Given the description of an element on the screen output the (x, y) to click on. 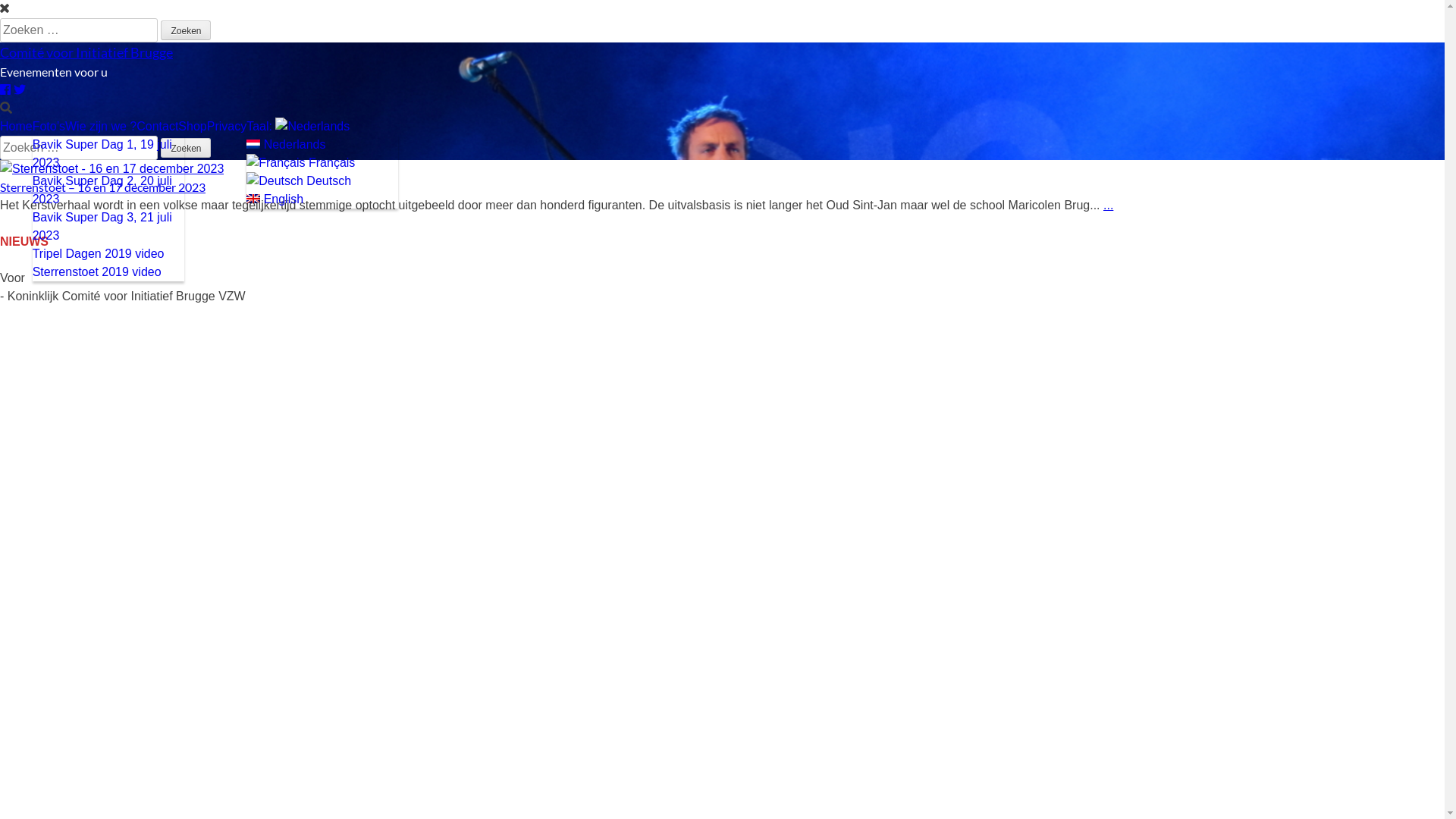
 Deutsch Element type: text (322, 181)
 English Element type: text (322, 199)
Wie zijn we ? Element type: text (100, 126)
Sterrenstoet 2019 video Element type: text (108, 272)
Bavik Super Dag 1, 19 juli 2023 Element type: text (108, 153)
Tripel Dagen 2019 video Element type: text (108, 253)
Zoeken Element type: text (185, 147)
Bavik Super Dag 2, 20 juli 2023 Element type: text (108, 190)
Privacy Element type: text (226, 126)
Shop Element type: text (192, 126)
... Element type: text (1108, 204)
Bavik Super Dag 3, 21 juli 2023 Element type: text (108, 226)
Taal:  Element type: text (297, 126)
 Nederlands Element type: text (322, 144)
Contact Element type: text (157, 126)
Zoeken Element type: text (185, 30)
Home Element type: text (16, 126)
